Given the description of an element on the screen output the (x, y) to click on. 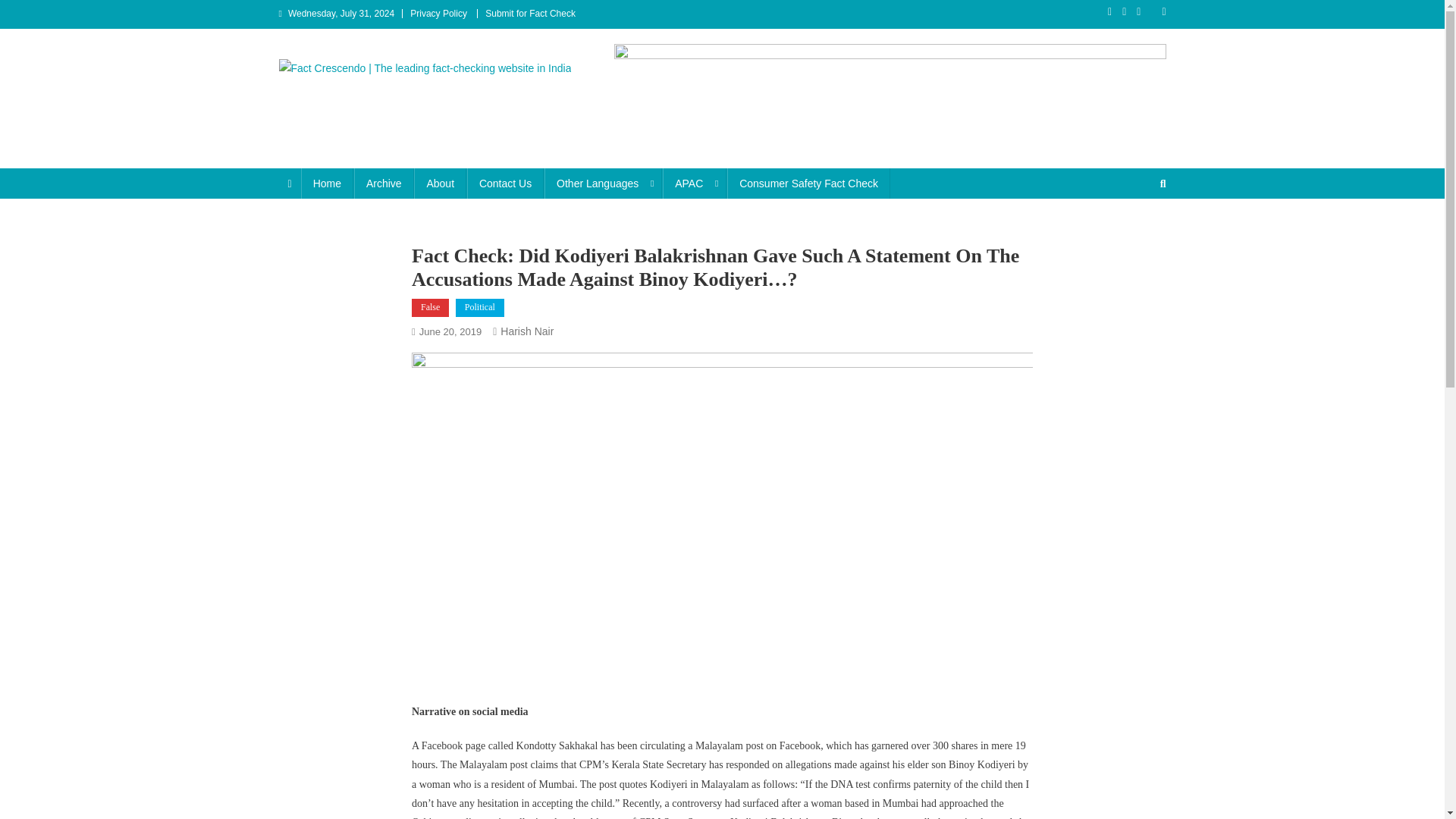
About (439, 183)
Political (479, 307)
Harish Nair (526, 331)
Submit for Fact Check (529, 13)
Home (327, 183)
APAC (694, 183)
Contact Us (505, 183)
Archive (383, 183)
Search (1133, 234)
June 20, 2019 (450, 331)
Other Languages (603, 183)
Consumer Safety Fact Check (807, 183)
False (430, 307)
Privacy Policy (438, 13)
